Given the description of an element on the screen output the (x, y) to click on. 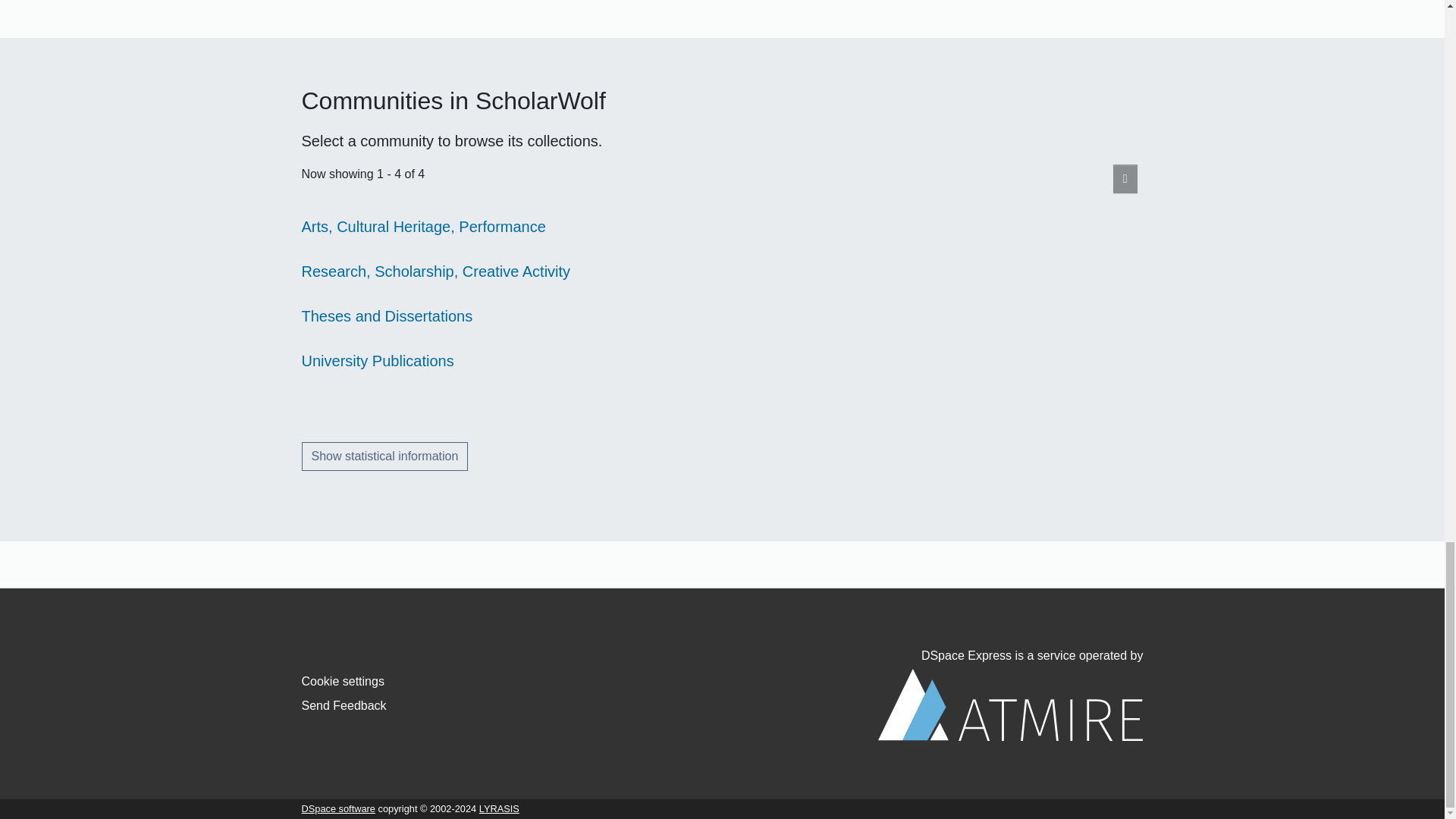
University Publications (377, 360)
Show statistical information (384, 456)
Cookie settings (342, 680)
Arts, Cultural Heritage, Performance (423, 226)
Research, Scholarship, Creative Activity (435, 271)
Theses and Dissertations (387, 315)
